Given the description of an element on the screen output the (x, y) to click on. 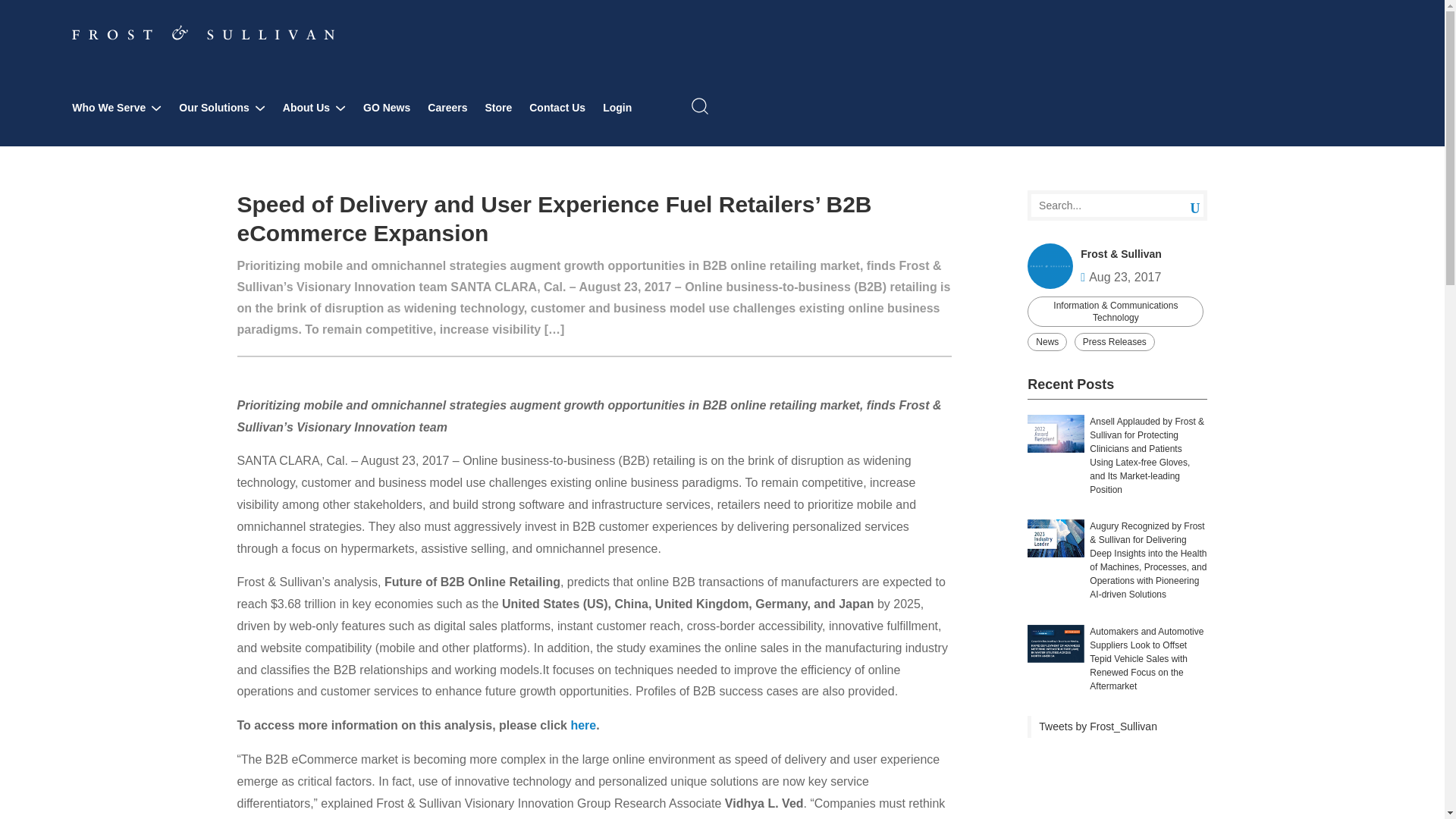
Search (1183, 205)
Who We Serve (116, 107)
